Given the description of an element on the screen output the (x, y) to click on. 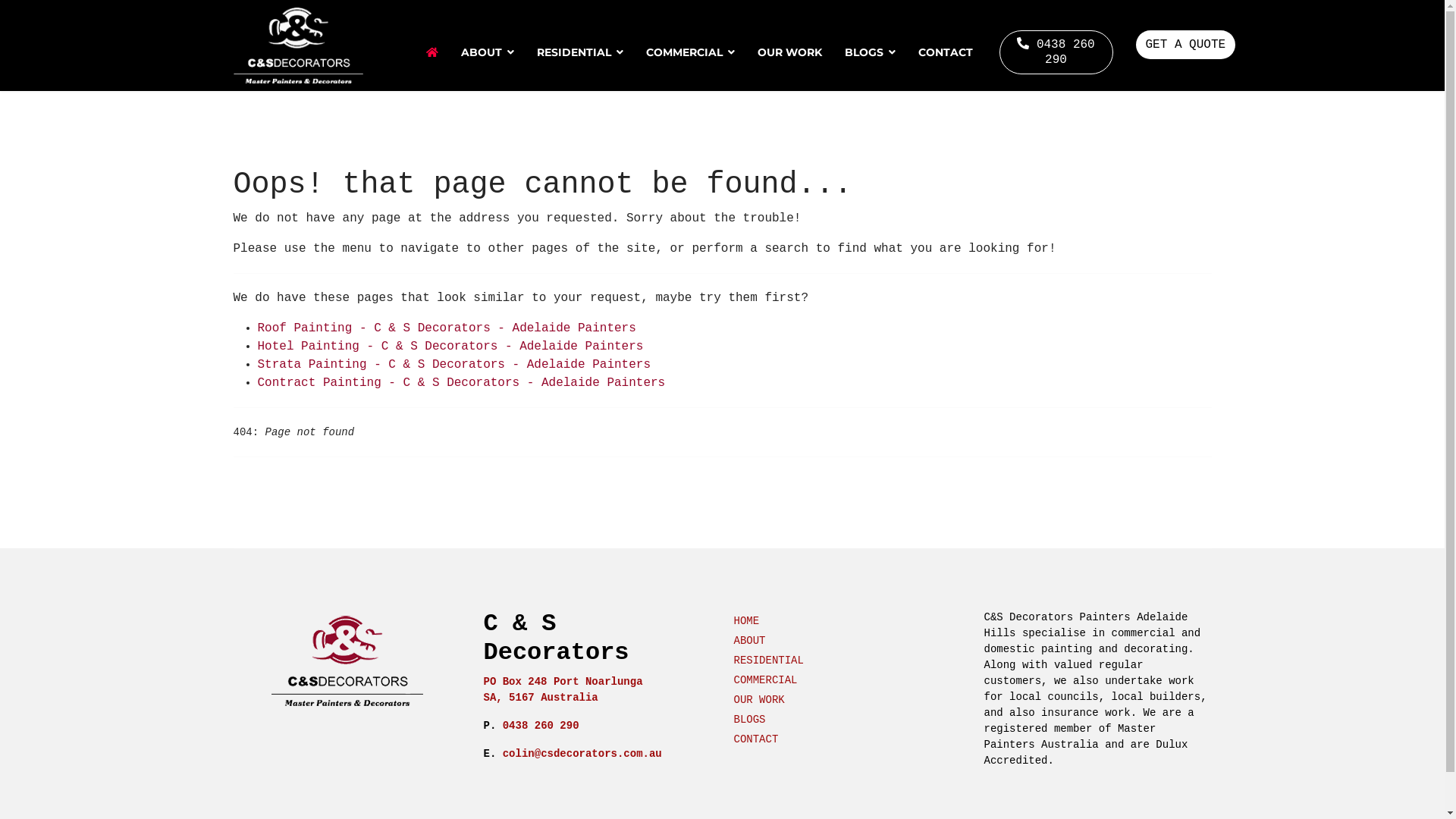
HOME Element type: text (768, 621)
Port Noarlunga Element type: text (598, 681)
OUR WORK Element type: text (789, 51)
ABOUT Element type: text (486, 51)
ABOUT Element type: text (768, 641)
PO Box 248 Element type: text (515, 681)
CONTACT Element type: text (939, 51)
Hotel Painting - C & S Decorators - Adelaide Painters Element type: text (450, 346)
Strata Painting - C & S Decorators - Adelaide Painters Element type: text (453, 364)
BLOGS Element type: text (768, 720)
RESIDENTIAL Element type: text (578, 51)
0438 260 290 Element type: text (1056, 52)
COMMERCIAL Element type: text (689, 51)
COMMERCIAL Element type: text (768, 680)
colin@csdecorators.com.au Element type: text (582, 753)
RESIDENTIAL Element type: text (768, 660)
Australia Element type: text (569, 697)
OUR WORK Element type: text (768, 700)
SA, 5167 Element type: text (508, 697)
Contract Painting - C & S Decorators - Adelaide Painters Element type: text (461, 382)
BLOGS Element type: text (869, 51)
GET A QUOTE Element type: text (1185, 44)
Roof Painting - C & S Decorators - Adelaide Painters Element type: text (446, 328)
CONTACT Element type: text (768, 739)
0438 260 290 Element type: text (540, 725)
